Given the description of an element on the screen output the (x, y) to click on. 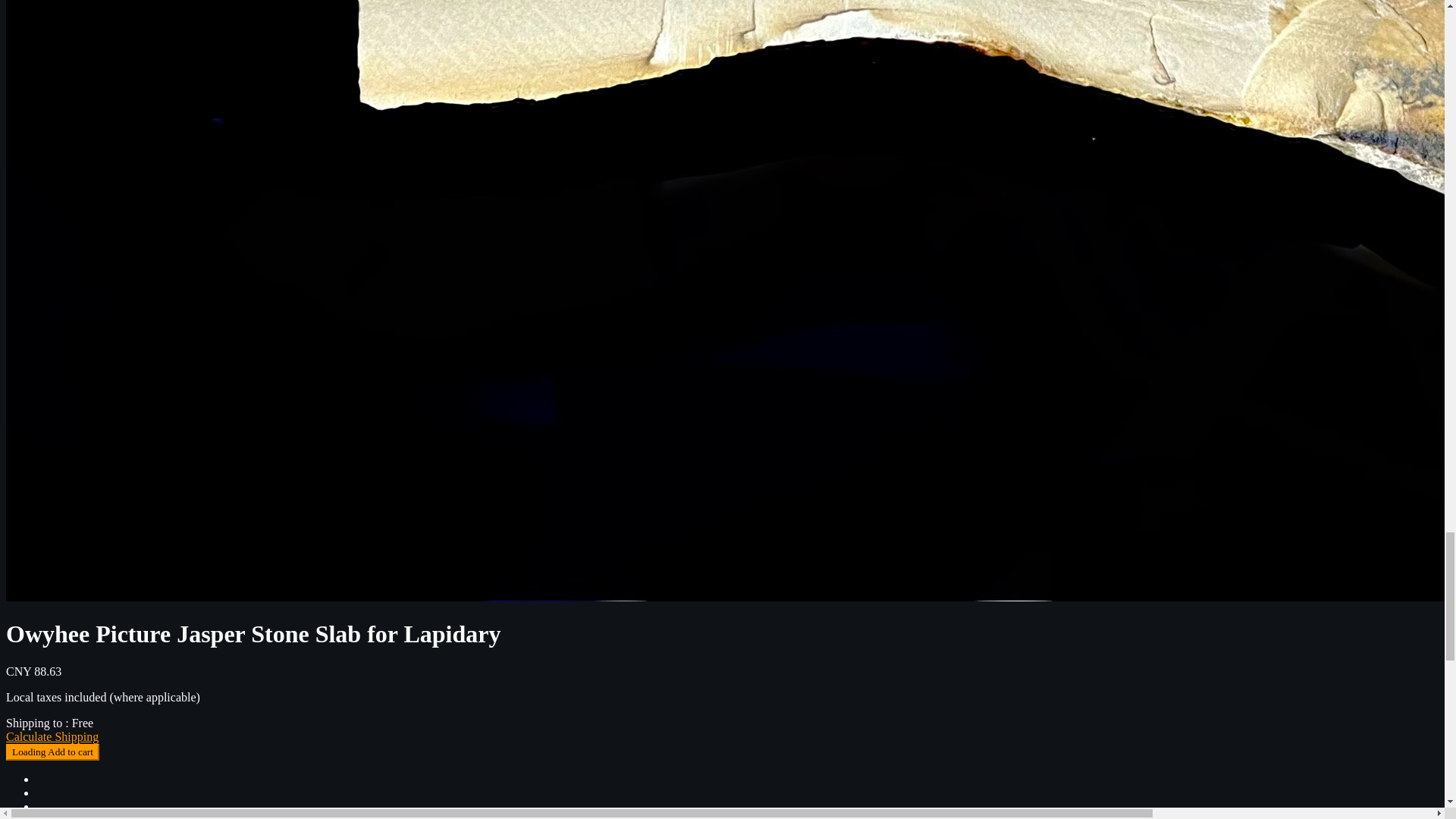
Loading Add to cart (52, 751)
Ask a question (71, 816)
Calculate Shipping (52, 735)
